Given the description of an element on the screen output the (x, y) to click on. 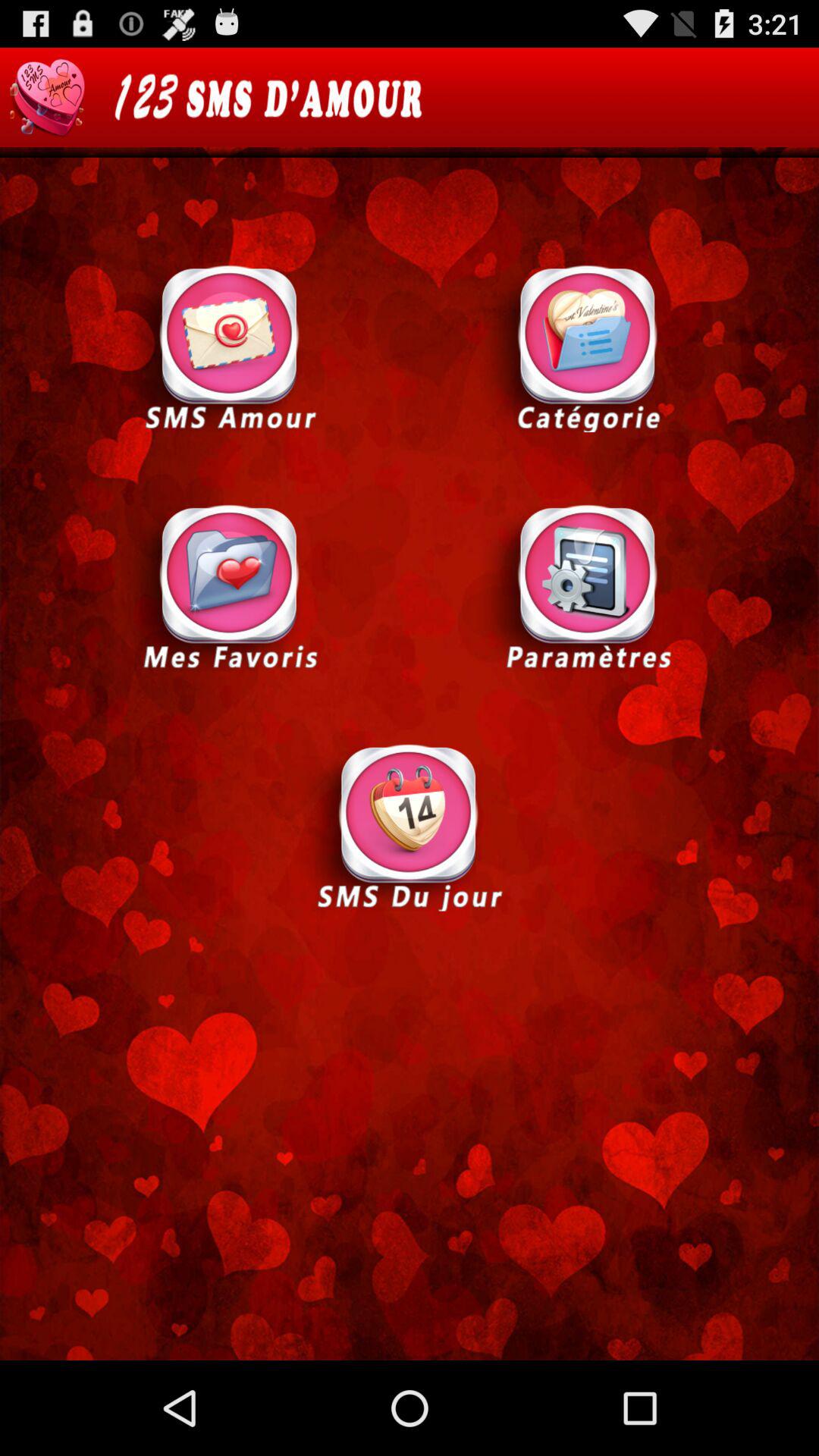
sms du jour (408, 826)
